Given the description of an element on the screen output the (x, y) to click on. 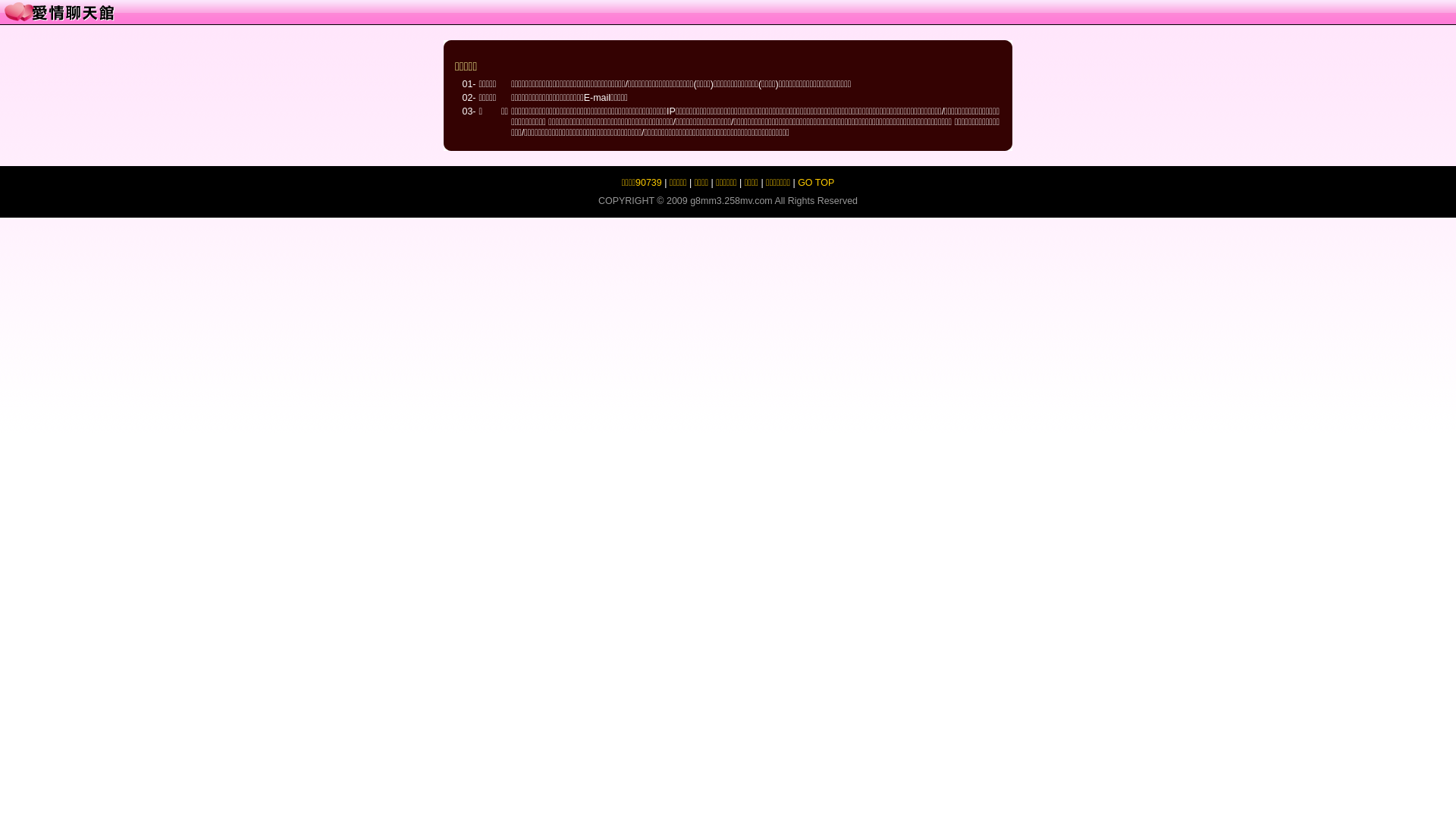
g8mm3.258mv.com Element type: text (731, 200)
GO TOP Element type: text (815, 182)
